Given the description of an element on the screen output the (x, y) to click on. 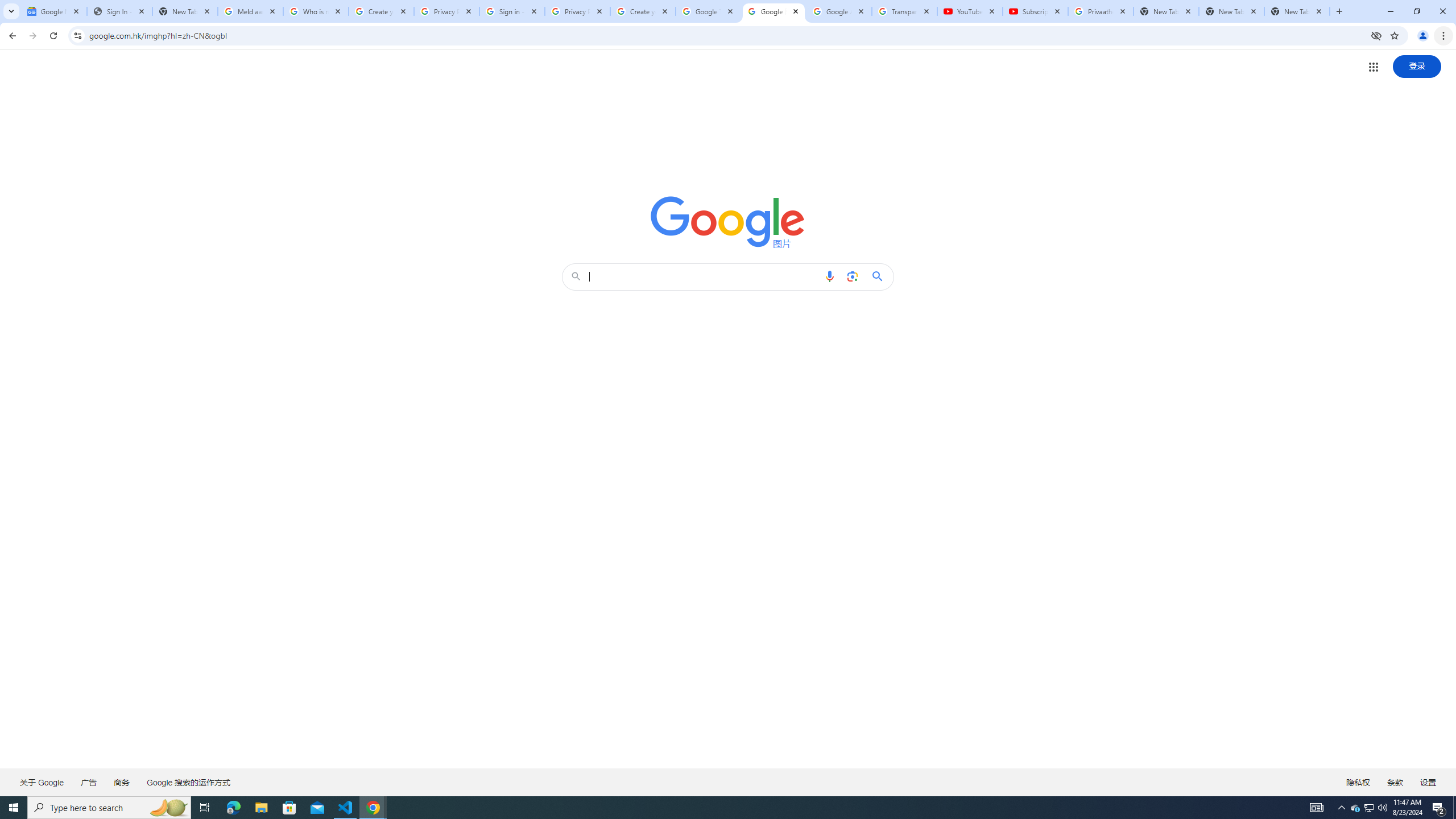
Sign In - USA TODAY (119, 11)
